Given the description of an element on the screen output the (x, y) to click on. 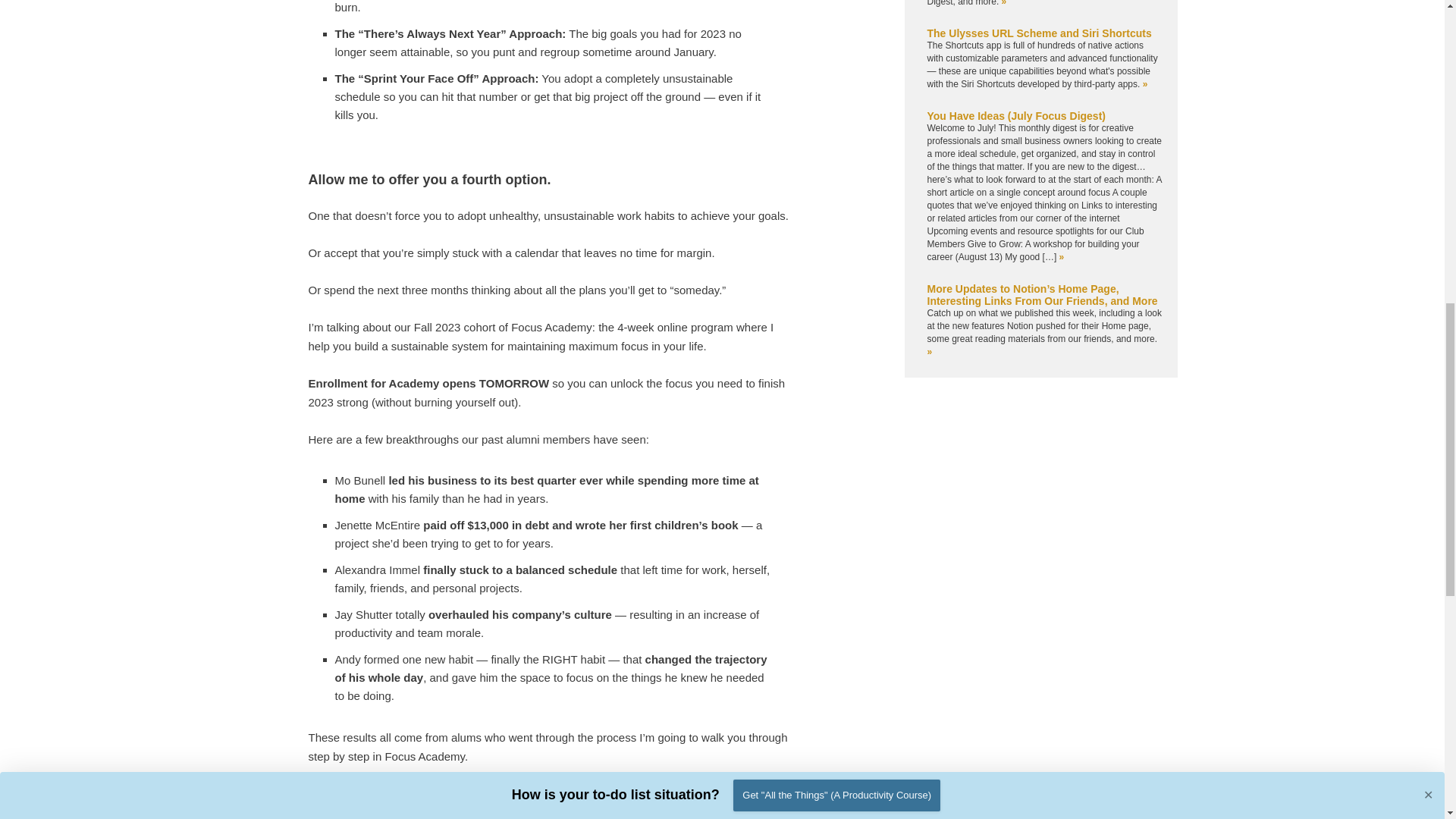
The Ulysses URL Scheme and Siri Shortcuts (1038, 33)
